Given the description of an element on the screen output the (x, y) to click on. 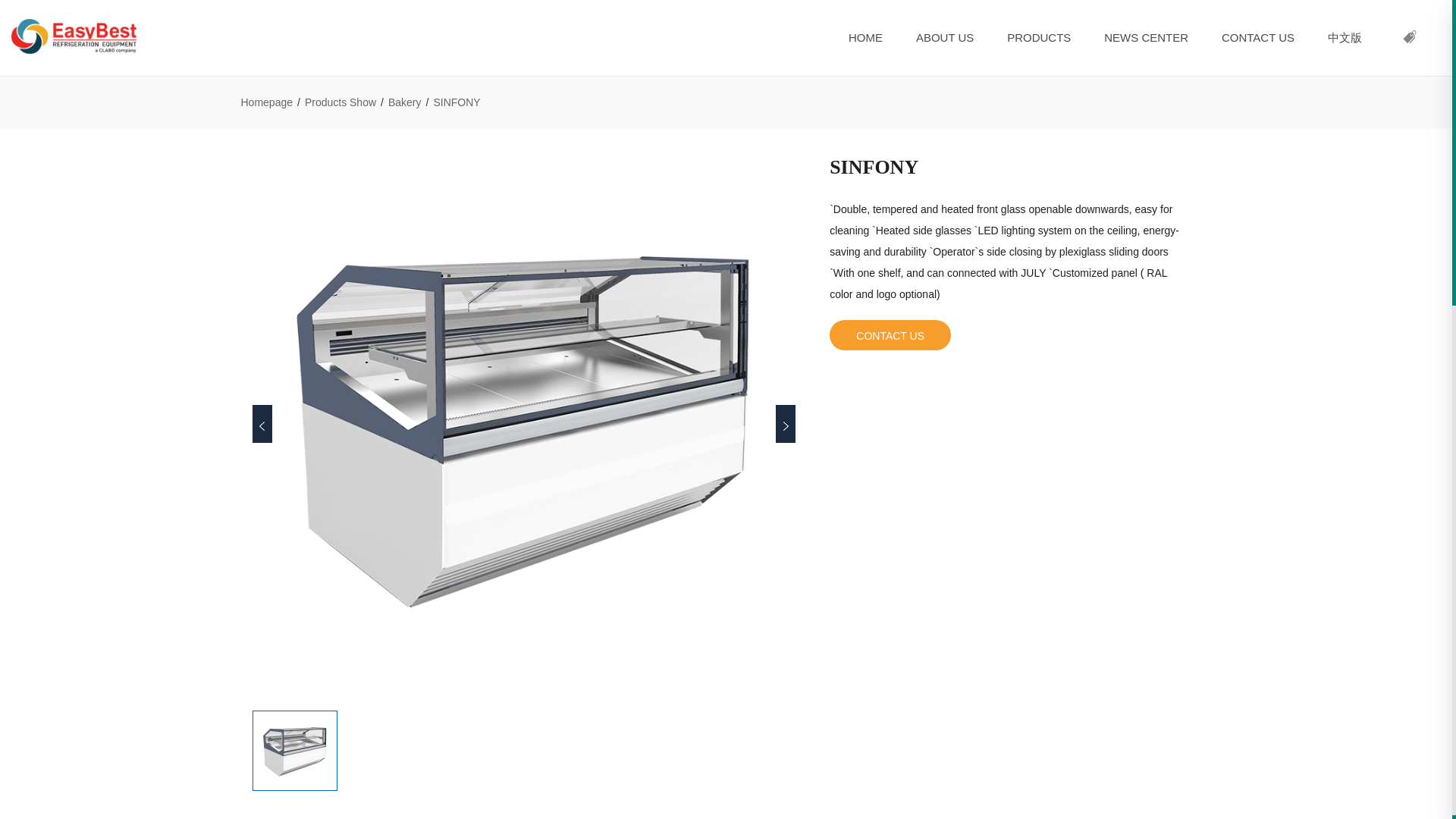
Bakery (405, 102)
Products Show (339, 102)
NEWS CENTER (1146, 38)
CONTACT US (1257, 38)
logo (73, 36)
PRODUCTS (1038, 38)
CONTACT US (889, 335)
SINFONY (295, 750)
ABOUT US (944, 38)
Click to see the big picture (522, 422)
Homepage (267, 102)
